Given the description of an element on the screen output the (x, y) to click on. 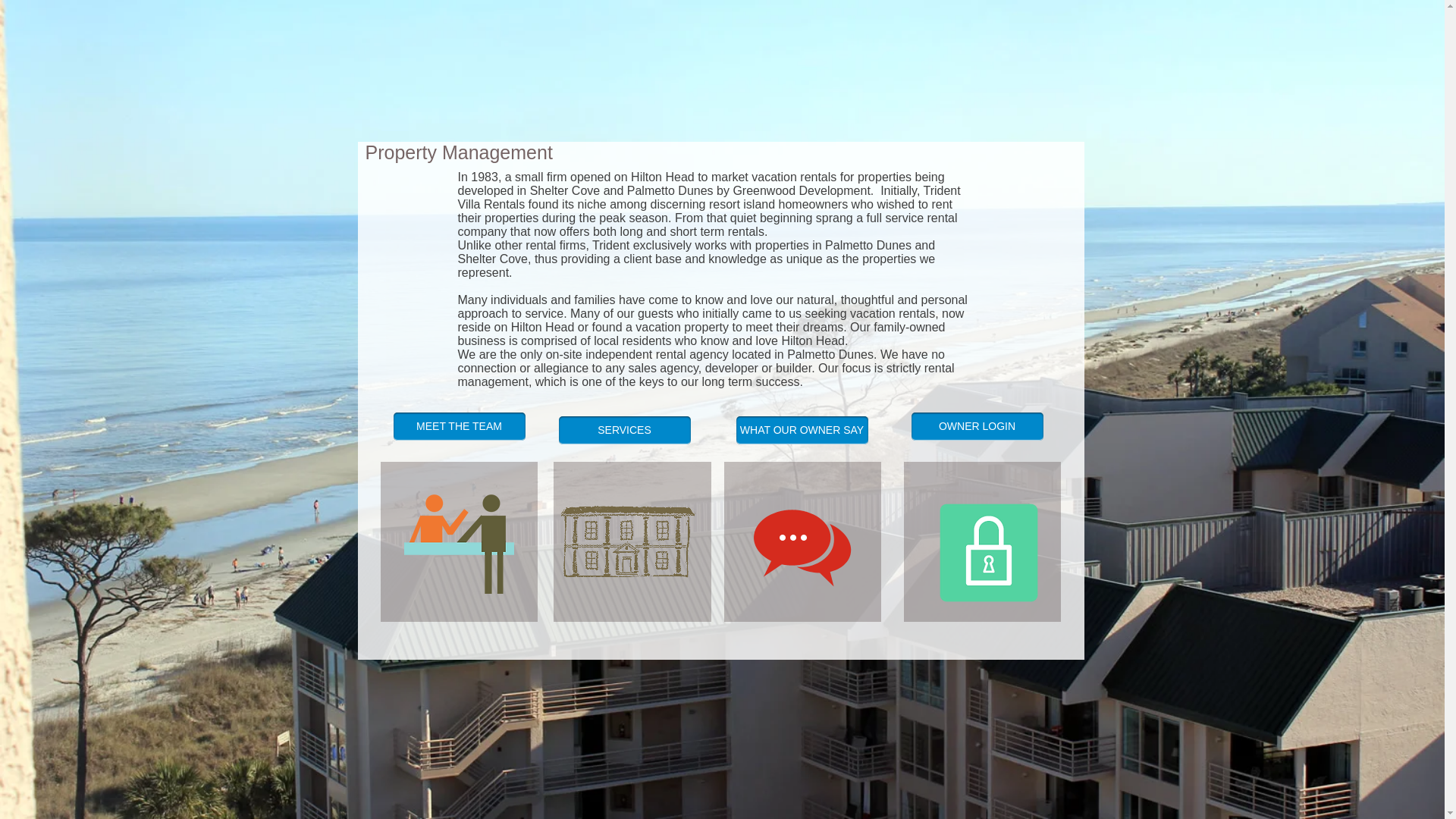
OWNER LOGIN (977, 426)
MEET THE TEAM (458, 426)
SERVICES (623, 430)
WHAT OUR OWNER SAY (801, 430)
